Given the description of an element on the screen output the (x, y) to click on. 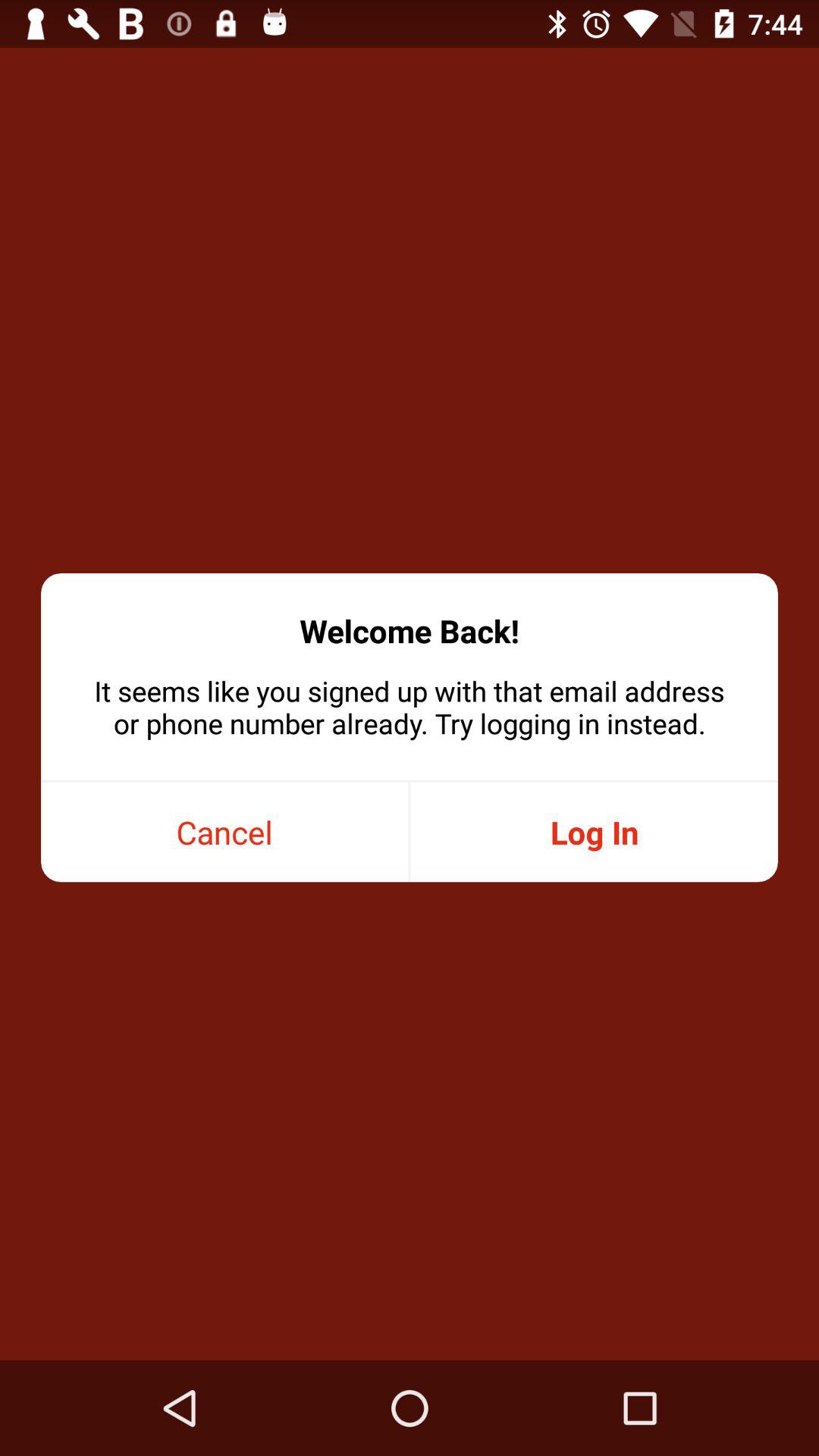
launch the log in (594, 832)
